Given the description of an element on the screen output the (x, y) to click on. 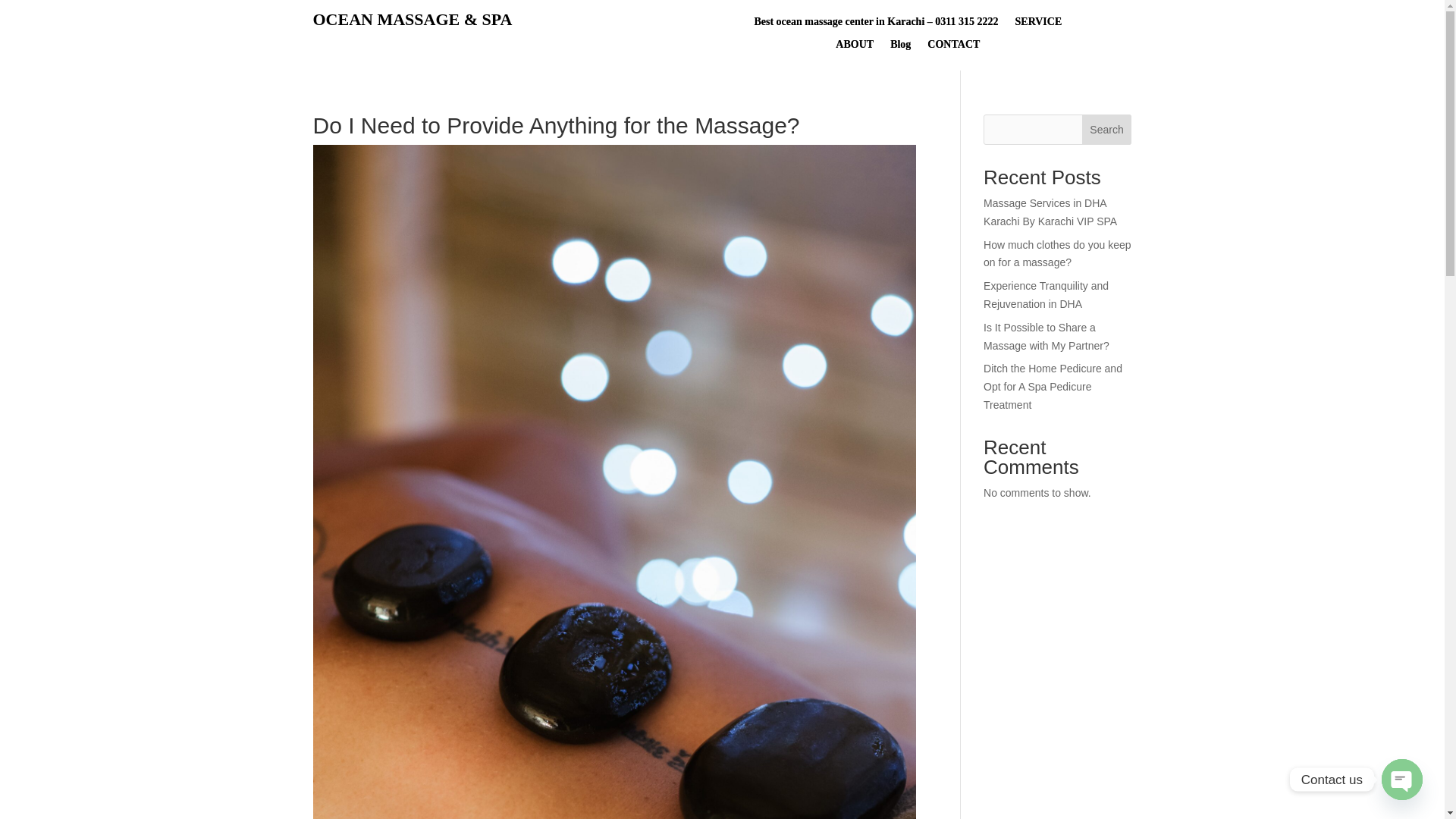
Experience Tranquility and Rejuvenation in DHA (1046, 295)
Search (1106, 129)
Blog (900, 47)
Is It Possible to Share a Massage with My Partner? (1046, 336)
Massage Services in DHA Karachi By Karachi VIP SPA (1050, 212)
CONTACT (953, 47)
ABOUT (854, 47)
Ditch the Home Pedicure and Opt for A Spa Pedicure Treatment (1053, 386)
How much clothes do you keep on for a massage? (1057, 254)
SERVICE (1038, 24)
